Given the description of an element on the screen output the (x, y) to click on. 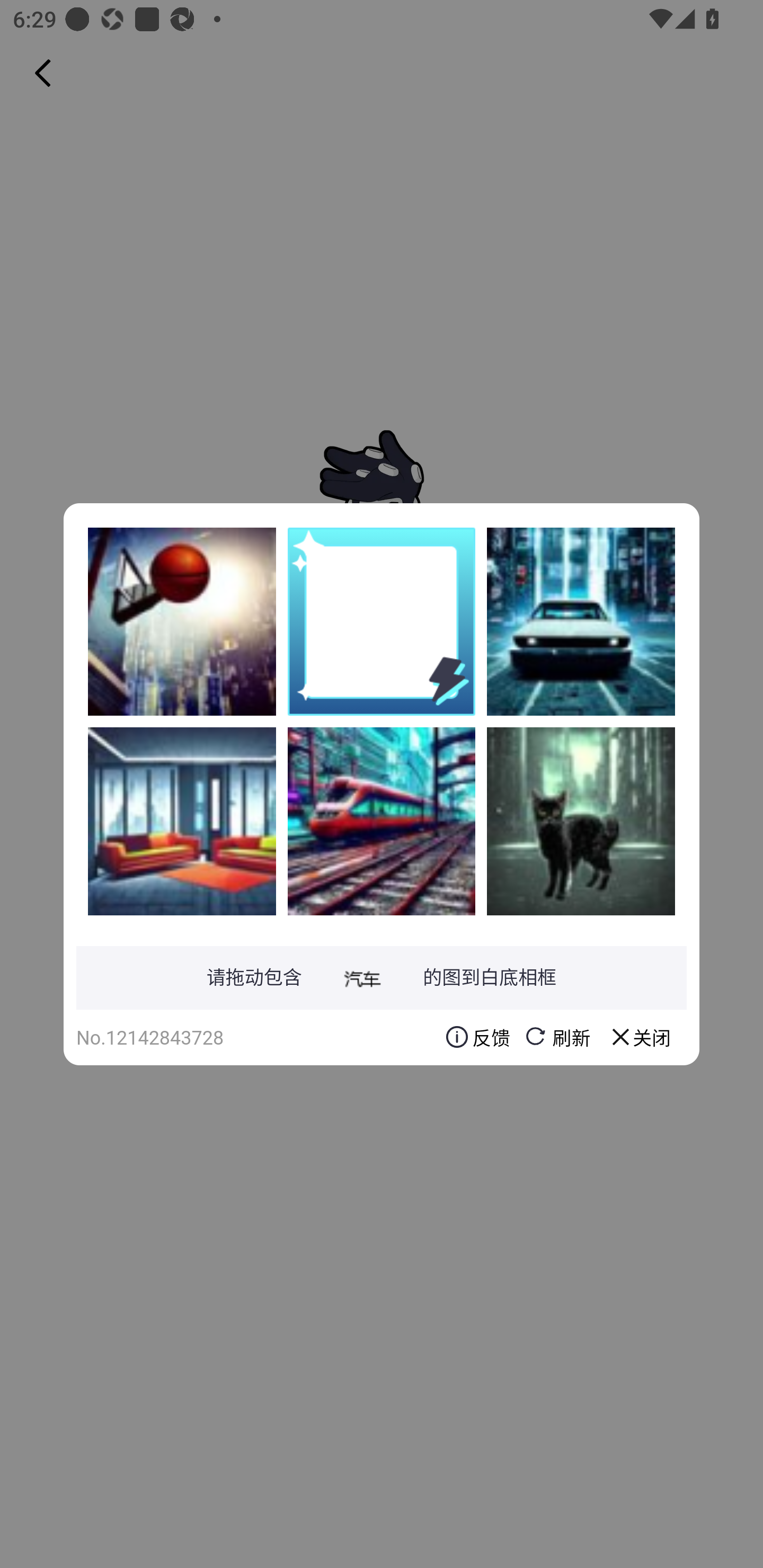
kwjGivDGyEv4p7bt+6gxxx1siJIksn2S7+PH1P+37XR (181, 621)
+T594 (580, 621)
